Given the description of an element on the screen output the (x, y) to click on. 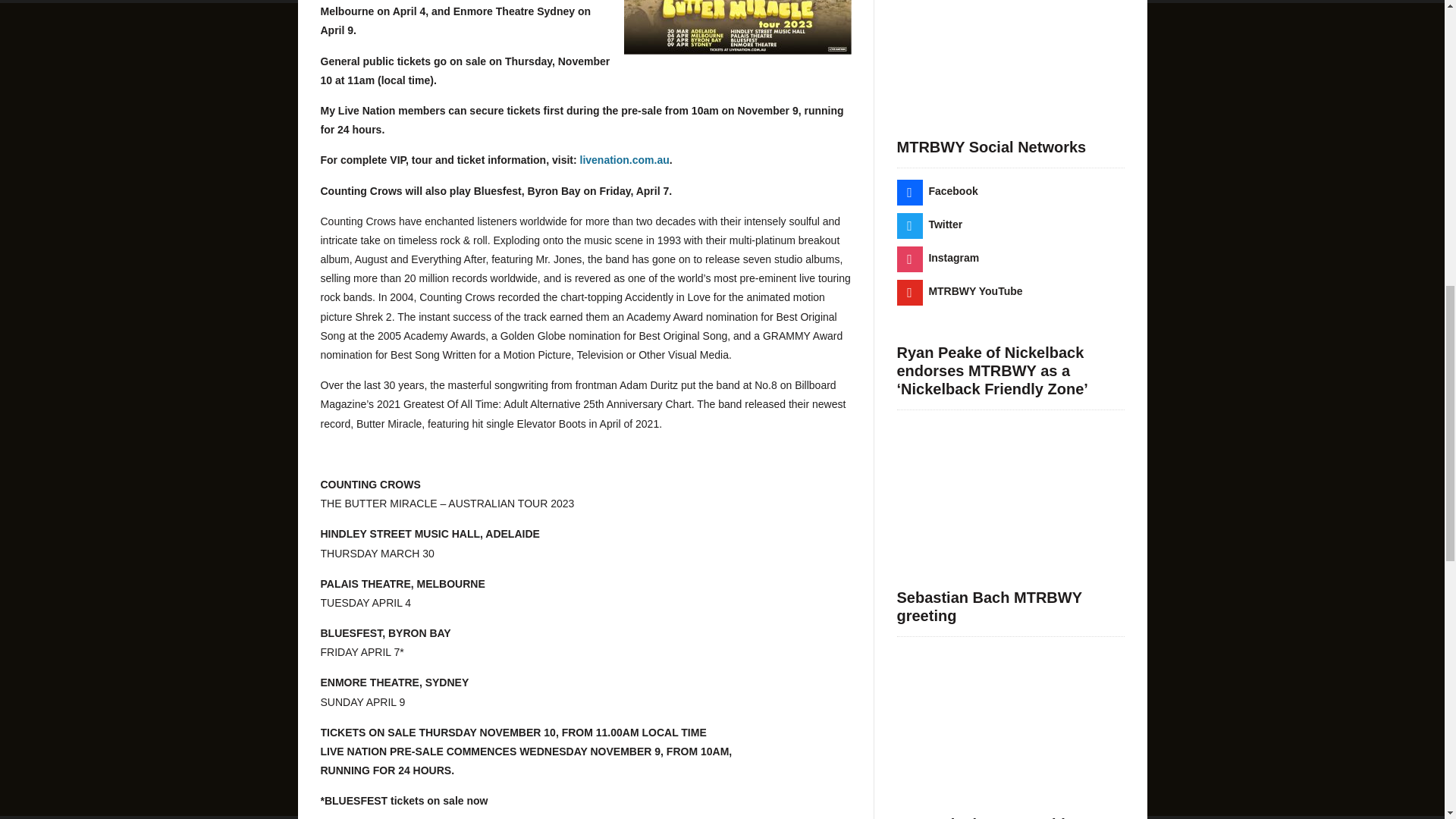
YouTube video player (1010, 49)
Facebook (936, 191)
Twitter (929, 224)
MTRBWY YouTube (959, 291)
Instagram (937, 257)
